Given the description of an element on the screen output the (x, y) to click on. 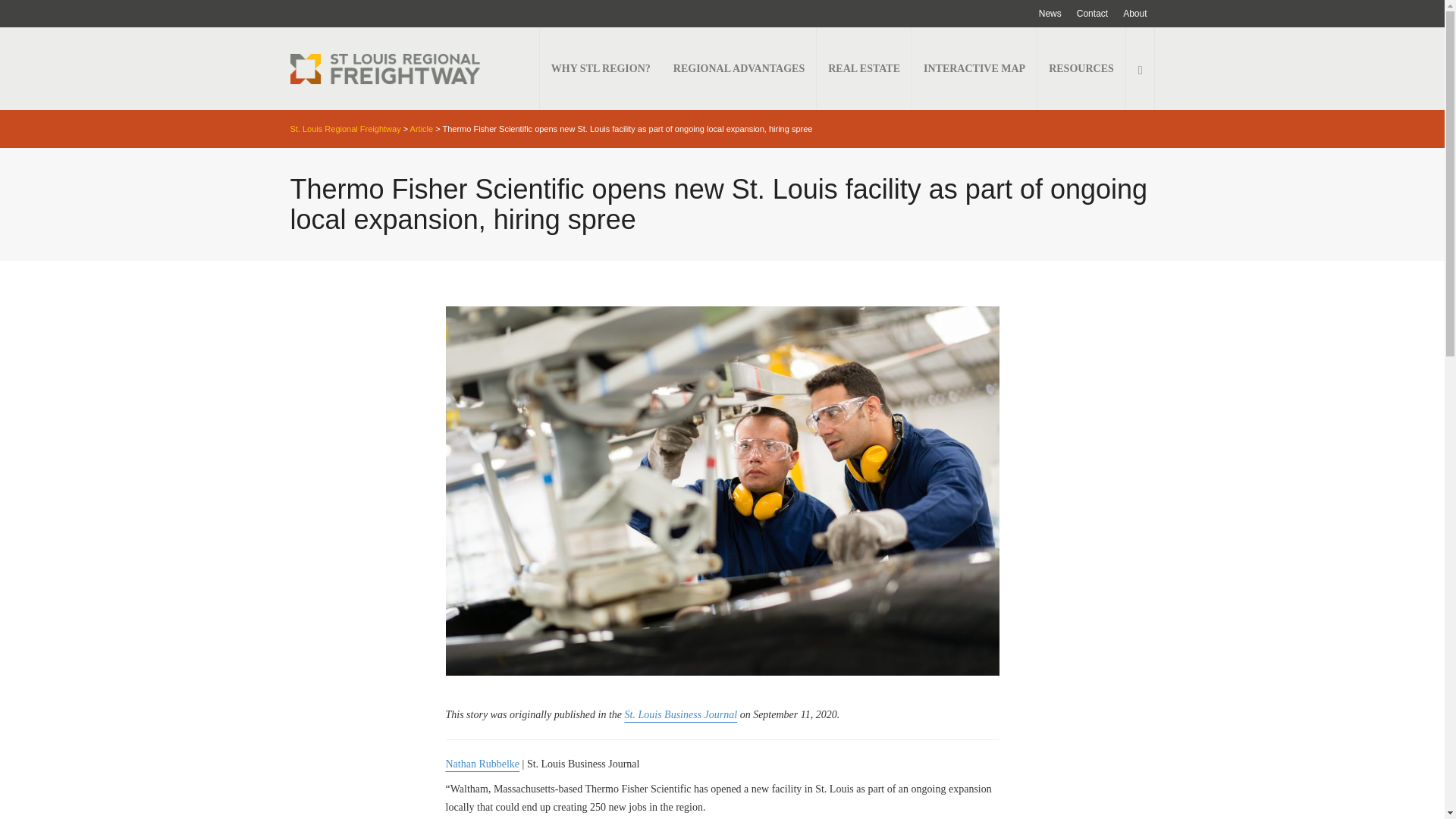
Go to St. Louis Regional Freightway. (344, 128)
Go to the Article Category archives. (421, 128)
Contact (1091, 13)
News (1049, 13)
About (1134, 13)
WHY STL REGION? (601, 68)
